Given the description of an element on the screen output the (x, y) to click on. 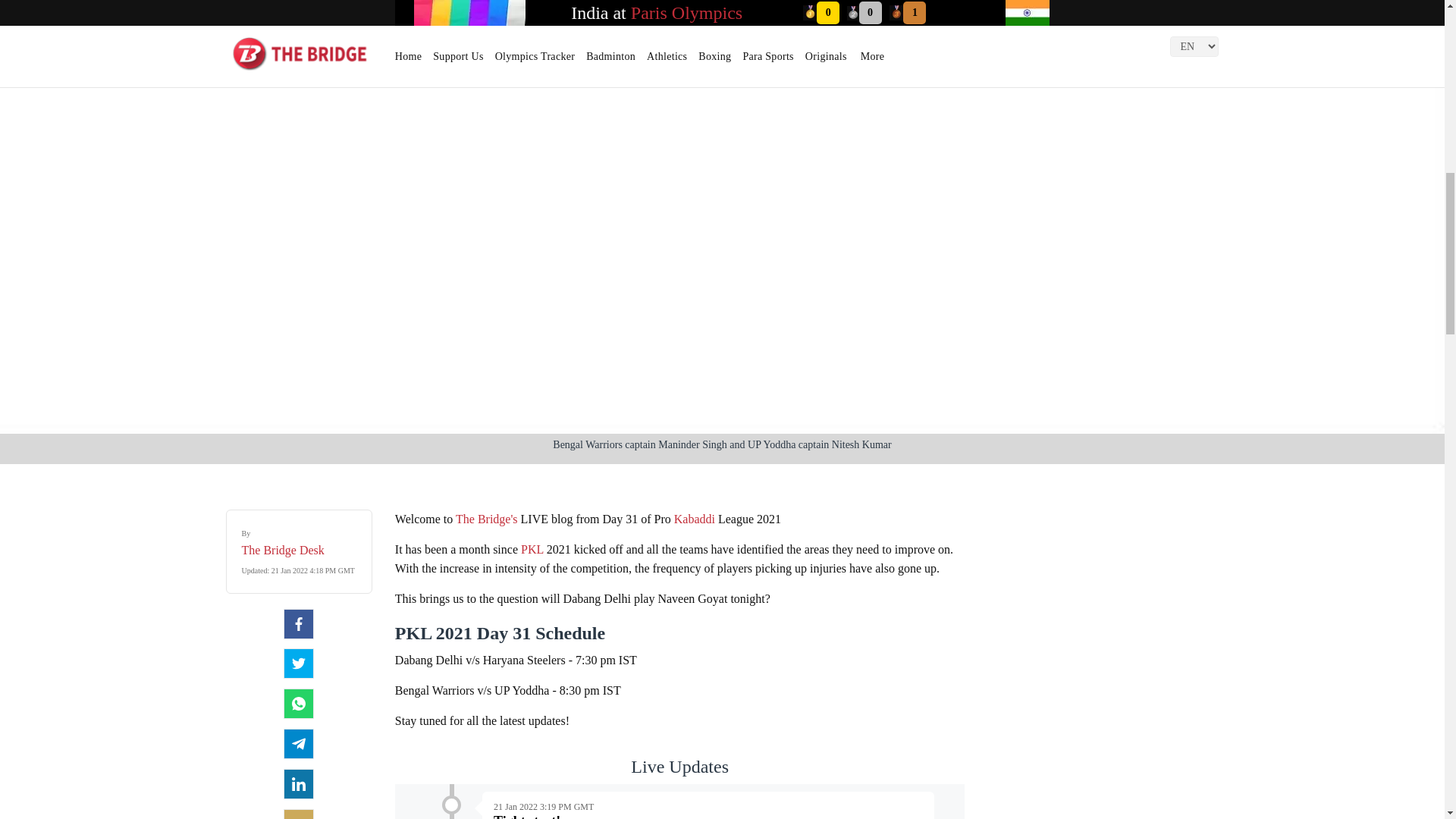
LinkedIn (298, 784)
Share by Email (298, 814)
